Given the description of an element on the screen output the (x, y) to click on. 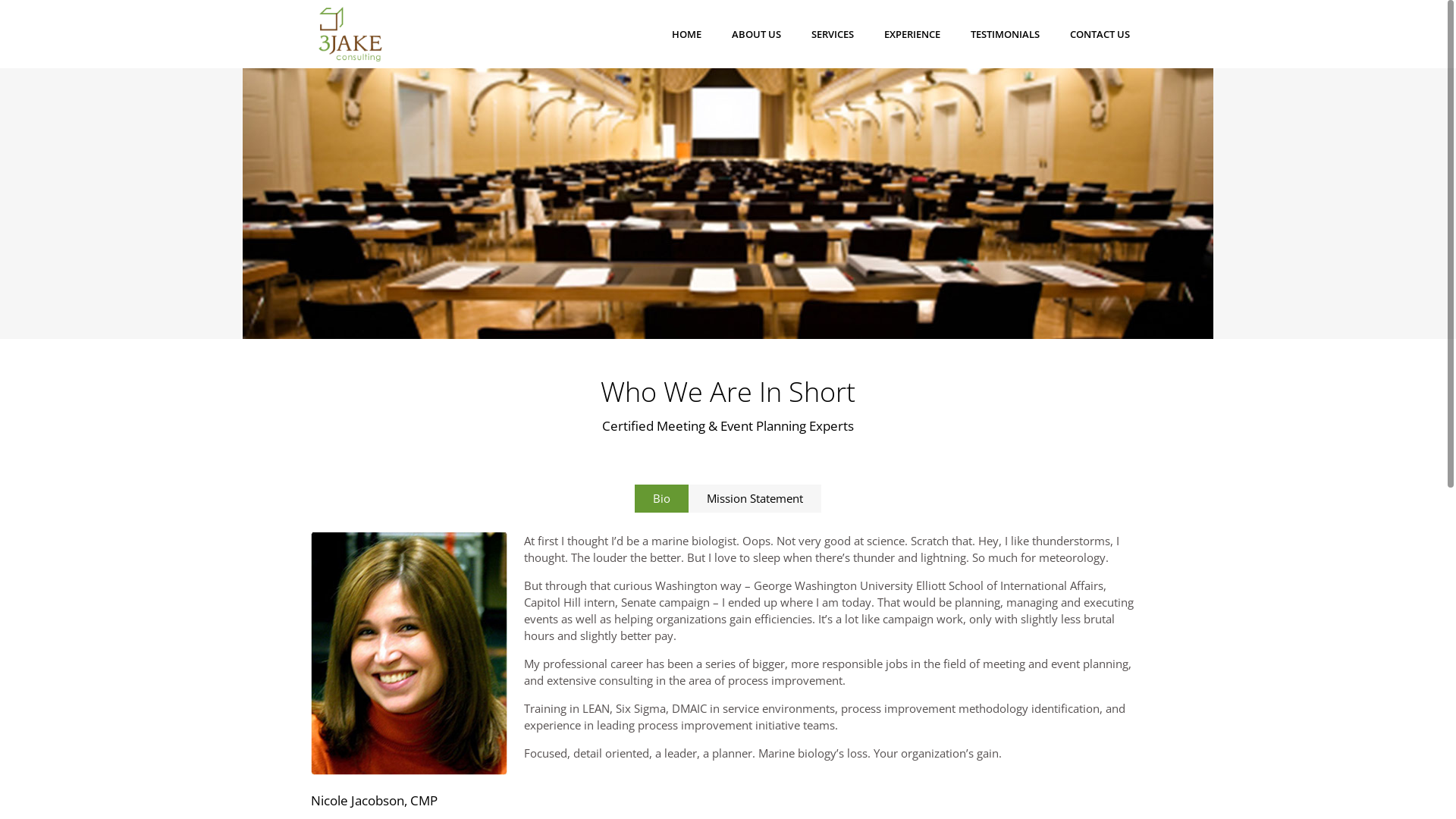
EXPERIENCE Element type: text (912, 34)
CONTACT US Element type: text (1099, 34)
Bio Element type: text (661, 498)
HOME Element type: text (686, 34)
SERVICES Element type: text (832, 34)
TESTIMONIALS Element type: text (1004, 34)
Mission Statement Element type: text (754, 498)
ABOUT US Element type: text (756, 34)
